Given the description of an element on the screen output the (x, y) to click on. 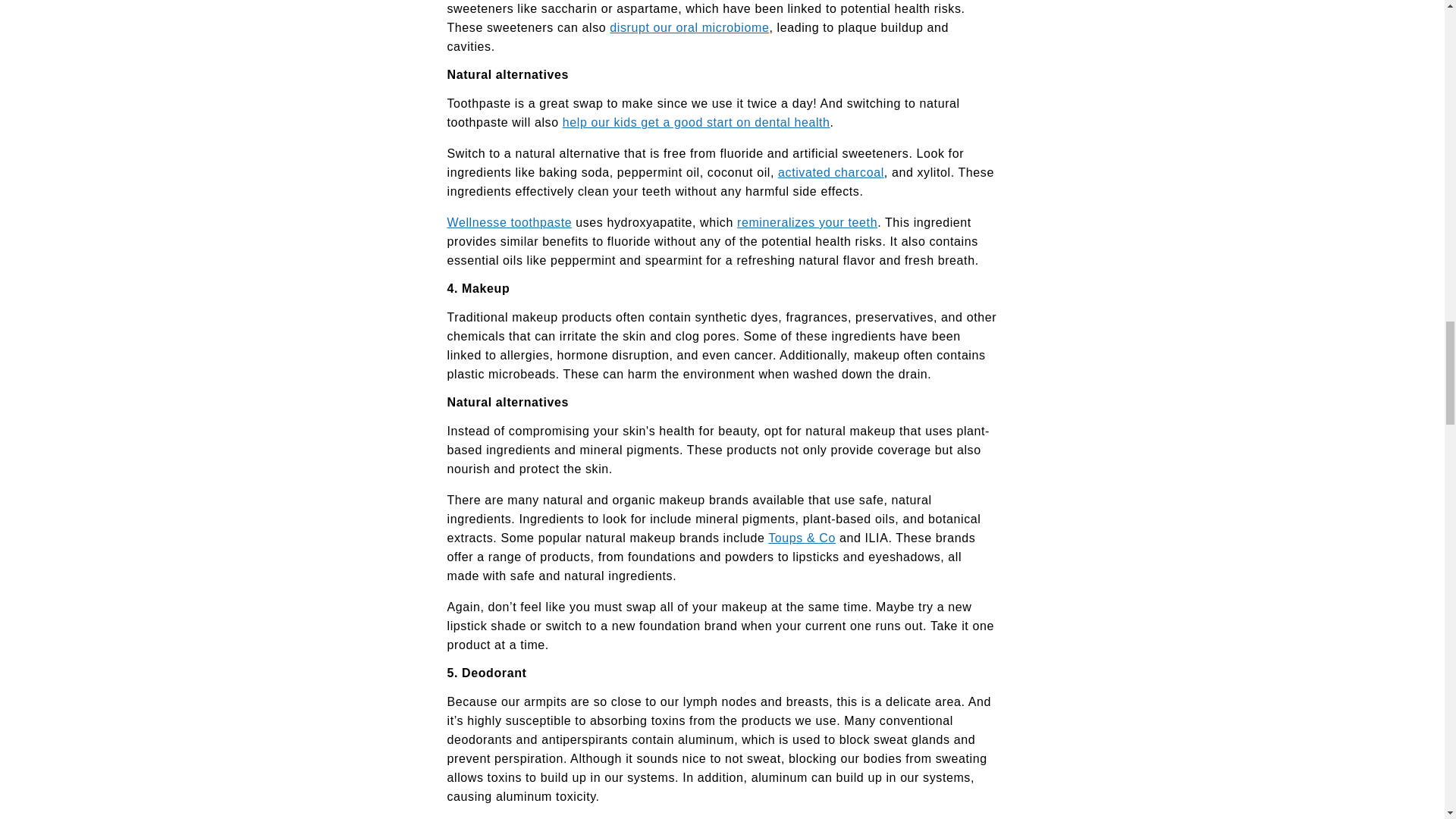
disrupt our oral microbiome (689, 27)
activated charcoal (830, 172)
help our kids get a good start on dental health (695, 122)
